Given the description of an element on the screen output the (x, y) to click on. 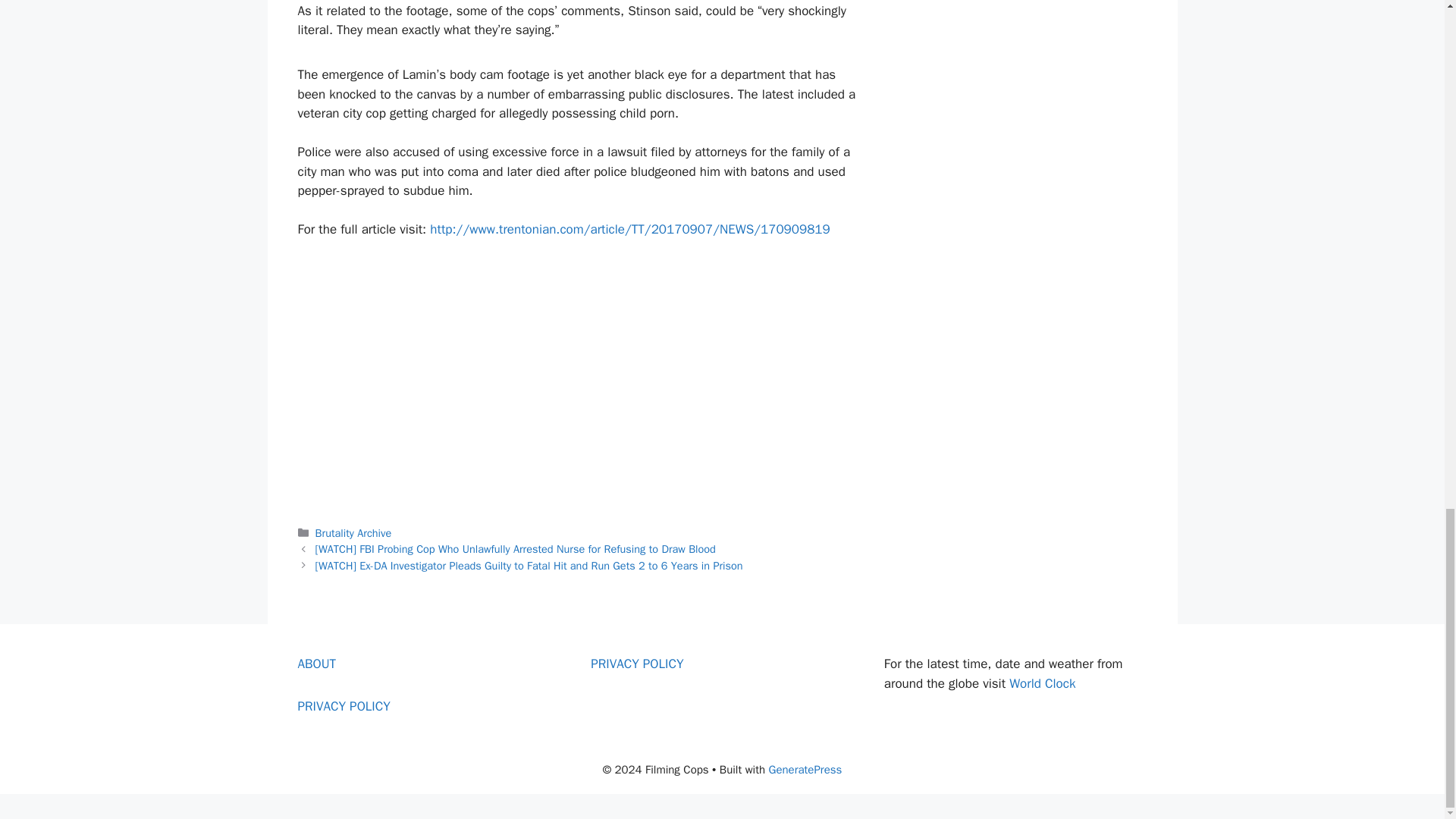
World Clock (1042, 683)
ABOUT (316, 663)
PRIVACY POLICY (343, 706)
GeneratePress (805, 769)
PRIVACY POLICY (636, 663)
Brutality Archive (353, 532)
